Given the description of an element on the screen output the (x, y) to click on. 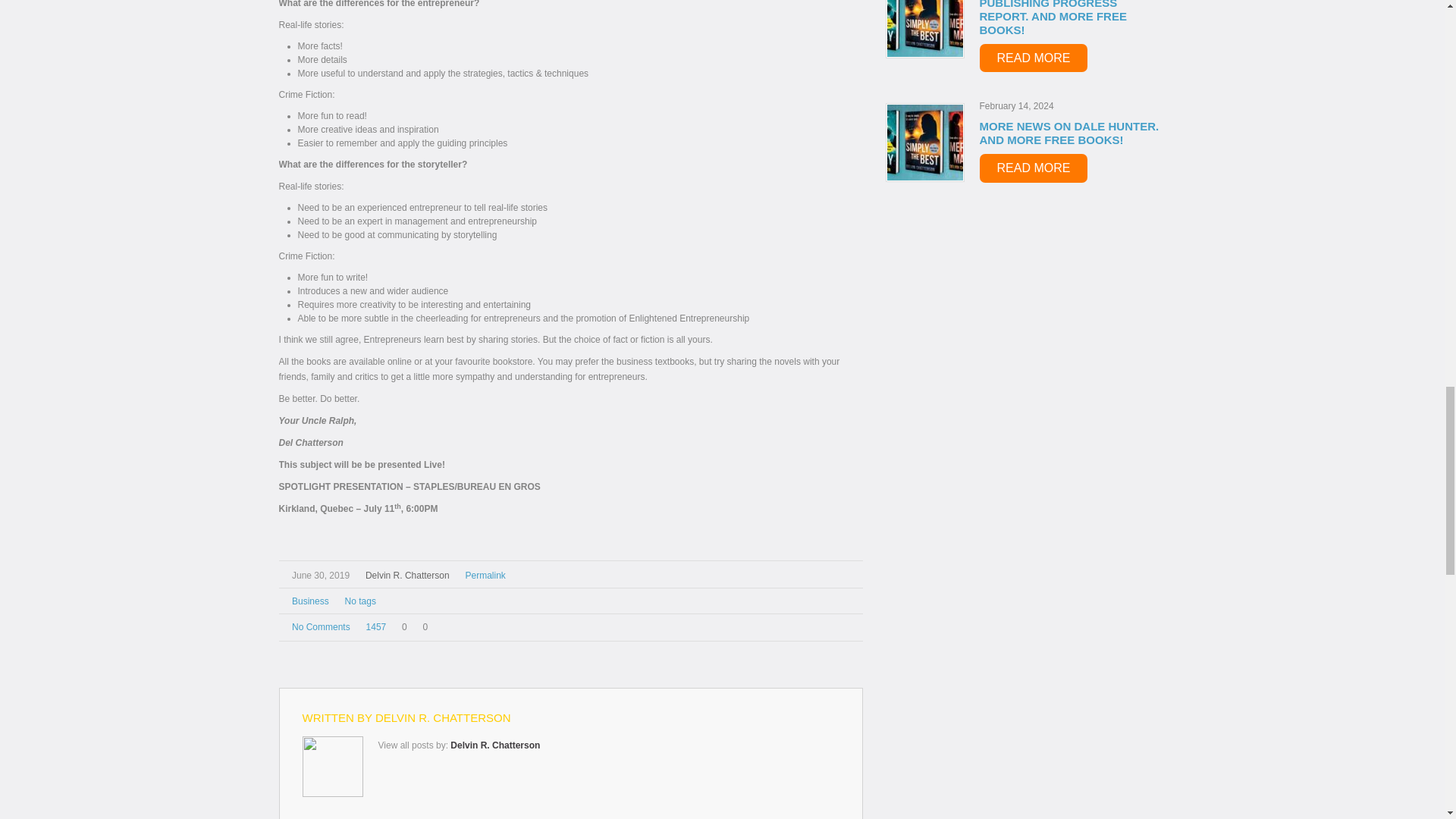
No Comments (321, 626)
Business (310, 601)
Only registered users can vote! (422, 626)
Posts by Delvin R. Chatterson (494, 745)
0 (401, 626)
DELVIN R. CHATTERSON (443, 717)
Posts by Delvin R. Chatterson (407, 575)
Only registered users can vote! (401, 626)
Delvin R. Chatterson (494, 745)
Posts by Delvin R. Chatterson (443, 717)
Number of view. (373, 626)
0 (422, 626)
Delvin R. Chatterson (407, 575)
Permalink (484, 575)
